Given the description of an element on the screen output the (x, y) to click on. 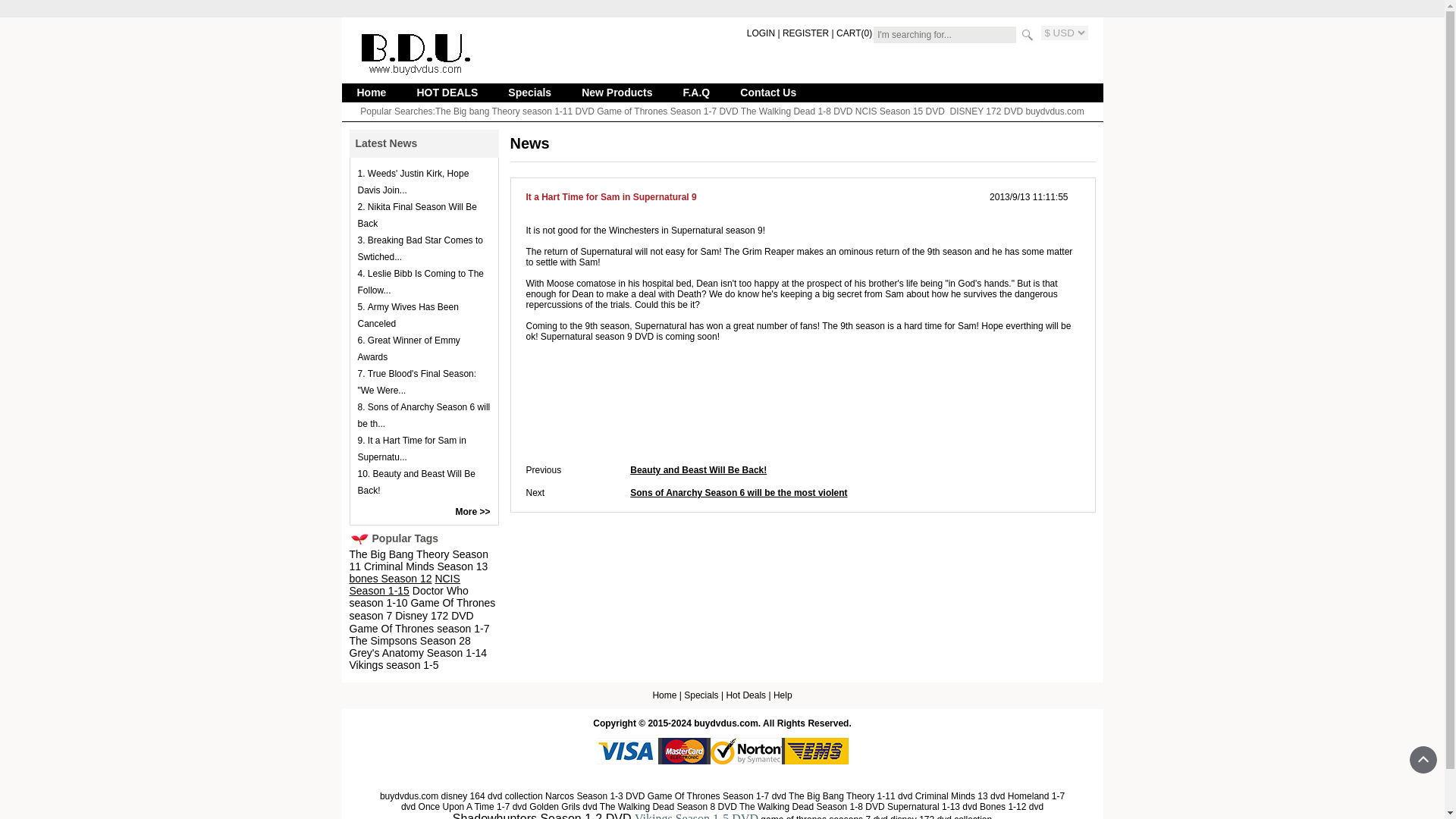
Doctor Who season 1-10 (408, 597)
NCIS Season 1-15 (404, 585)
NCIS Season 15 DVD Box Set (900, 111)
New Products (616, 92)
The Big Bang Theory Season 11 DVD Box Set (418, 560)
bones Season 12 (389, 579)
It a Hart Time for Sam in Supernatural 9 (411, 448)
Disney 172 DVD (434, 615)
Army Wives Has Been Canceled (408, 315)
Beauty and Beast Will Be Back! (698, 470)
